Given the description of an element on the screen output the (x, y) to click on. 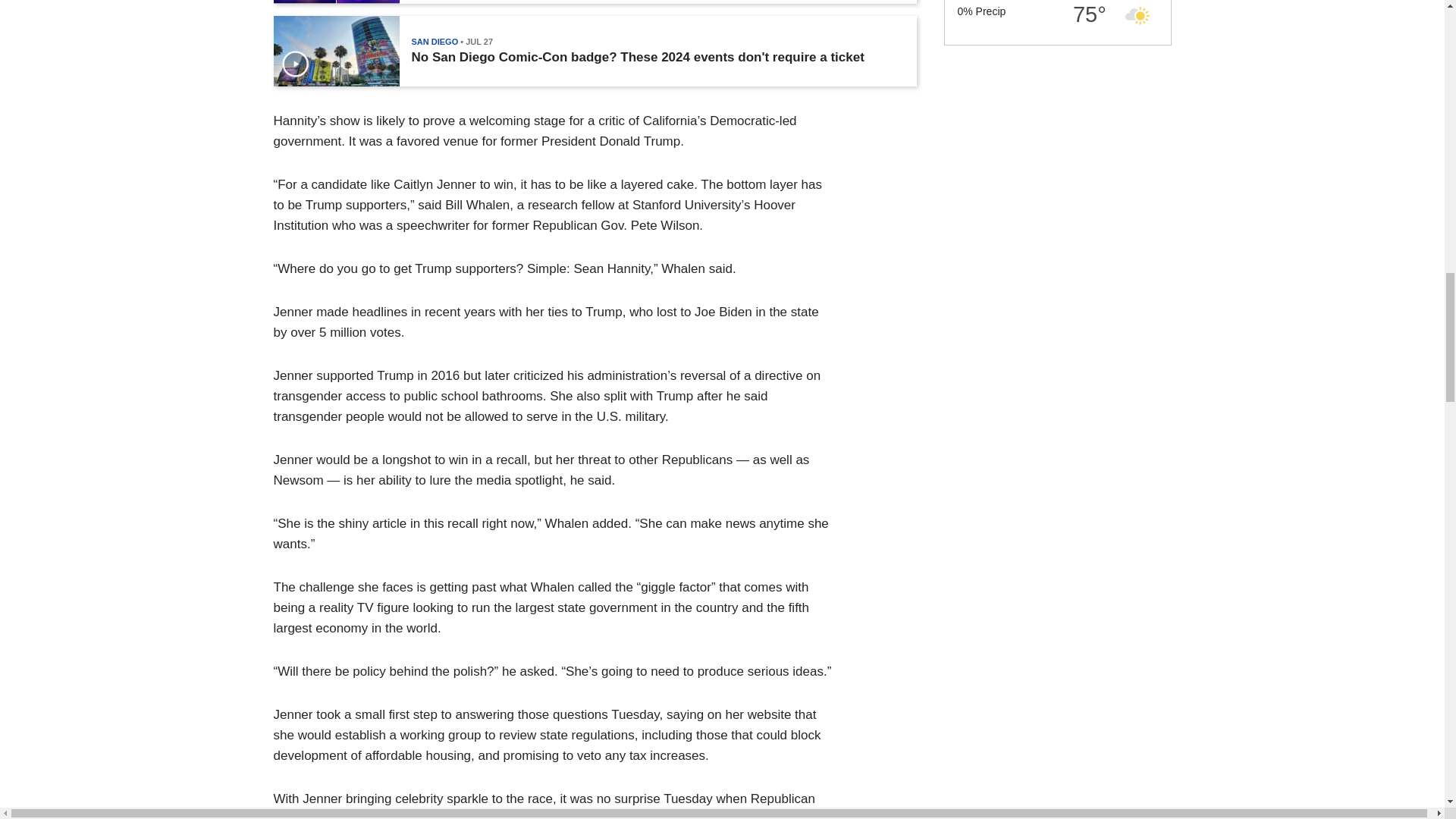
SAN DIEGO (434, 40)
